Given the description of an element on the screen output the (x, y) to click on. 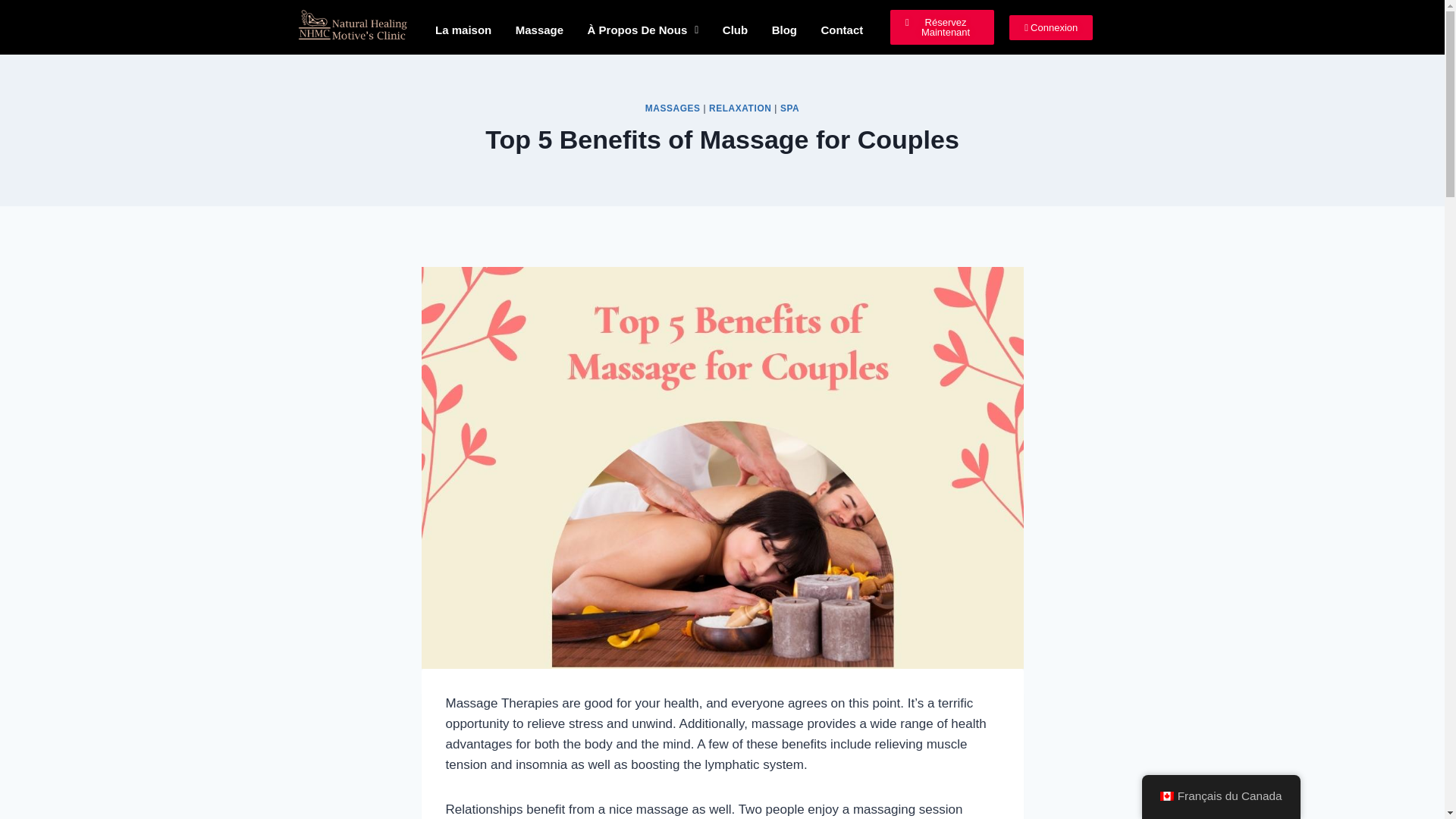
Blog (784, 29)
Connexion (1051, 27)
Contact (842, 29)
RELAXATION (740, 108)
MASSAGES (672, 108)
La maison (463, 29)
Club (735, 29)
Massage (539, 29)
SPA (789, 108)
